Given the description of an element on the screen output the (x, y) to click on. 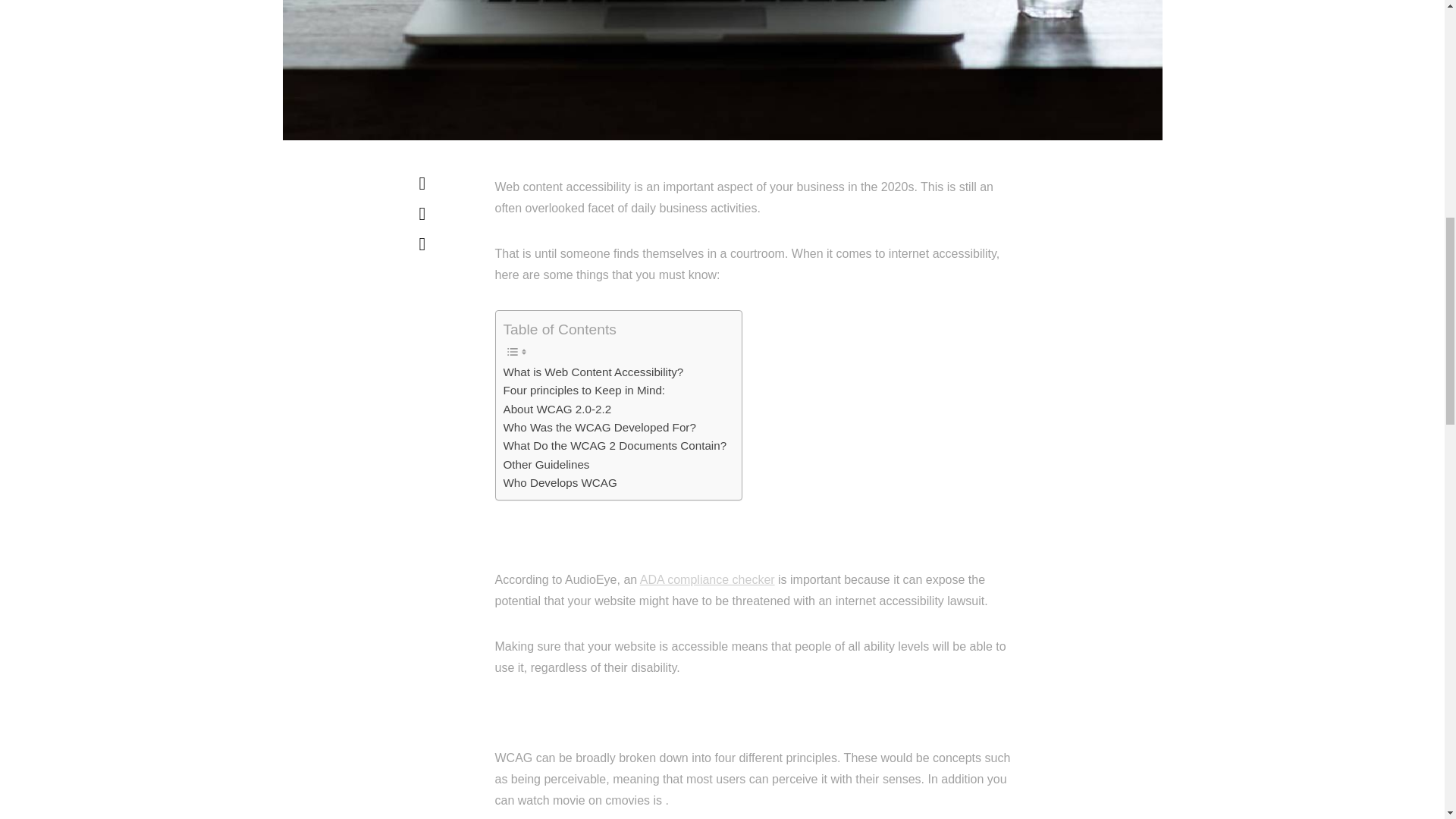
What is Web Content Accessibility? (593, 372)
What Do the WCAG 2 Documents Contain? (614, 445)
Who Develops WCAG (560, 483)
Four principles to Keep in Mind: (584, 390)
ADA compliance checker (707, 579)
About WCAG 2.0-2.2 (557, 409)
Who Was the WCAG Developed For? (599, 427)
Who Develops WCAG (560, 483)
What is Web Content Accessibility? (593, 372)
Other Guidelines (546, 464)
Who Was the WCAG Developed For? (599, 427)
About WCAG 2.0-2.2 (557, 409)
What Do the WCAG 2 Documents Contain? (614, 445)
Four principles to Keep in Mind: (584, 390)
Other Guidelines (546, 464)
